Given the description of an element on the screen output the (x, y) to click on. 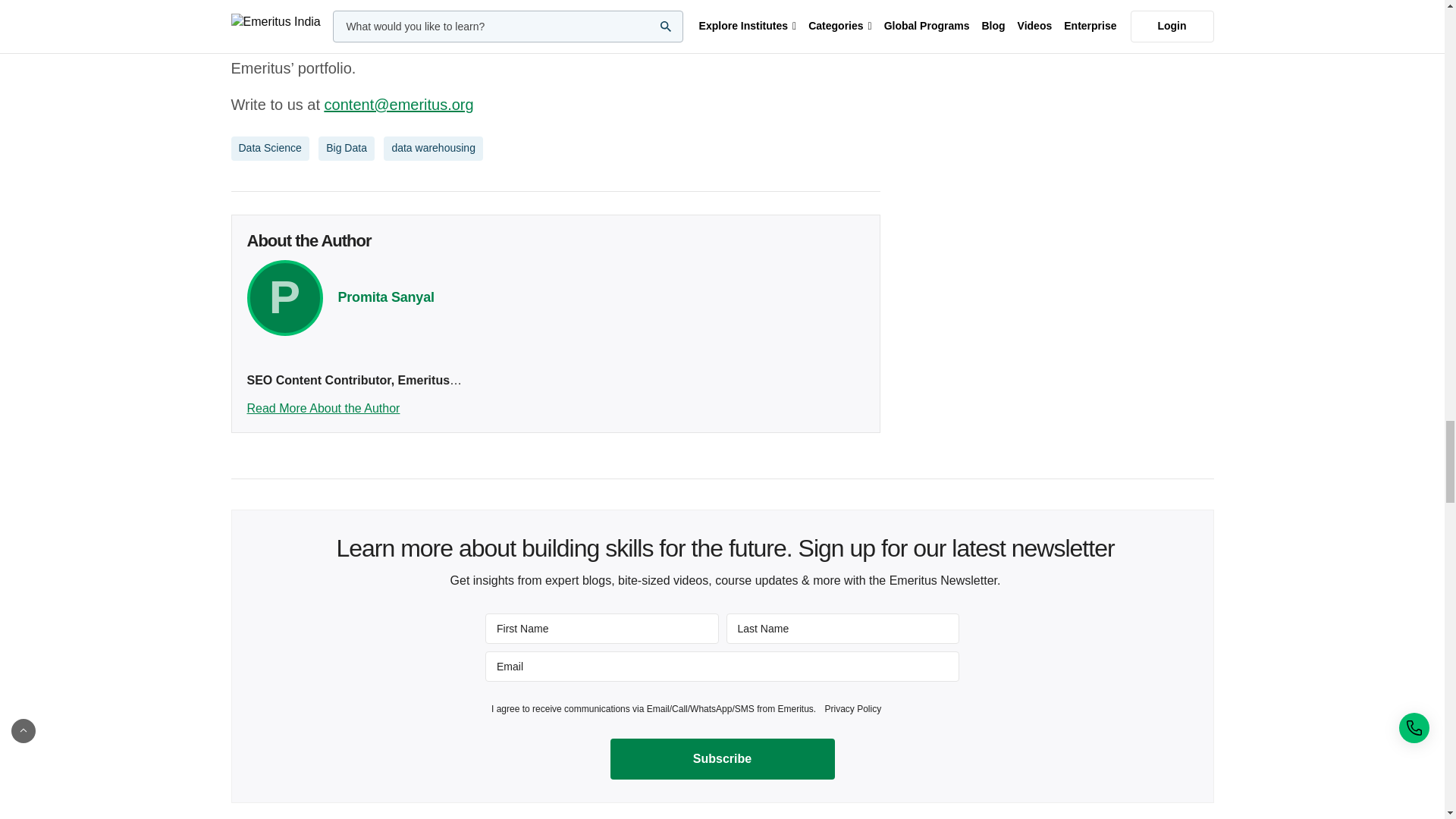
Subscribe (722, 758)
